Given the description of an element on the screen output the (x, y) to click on. 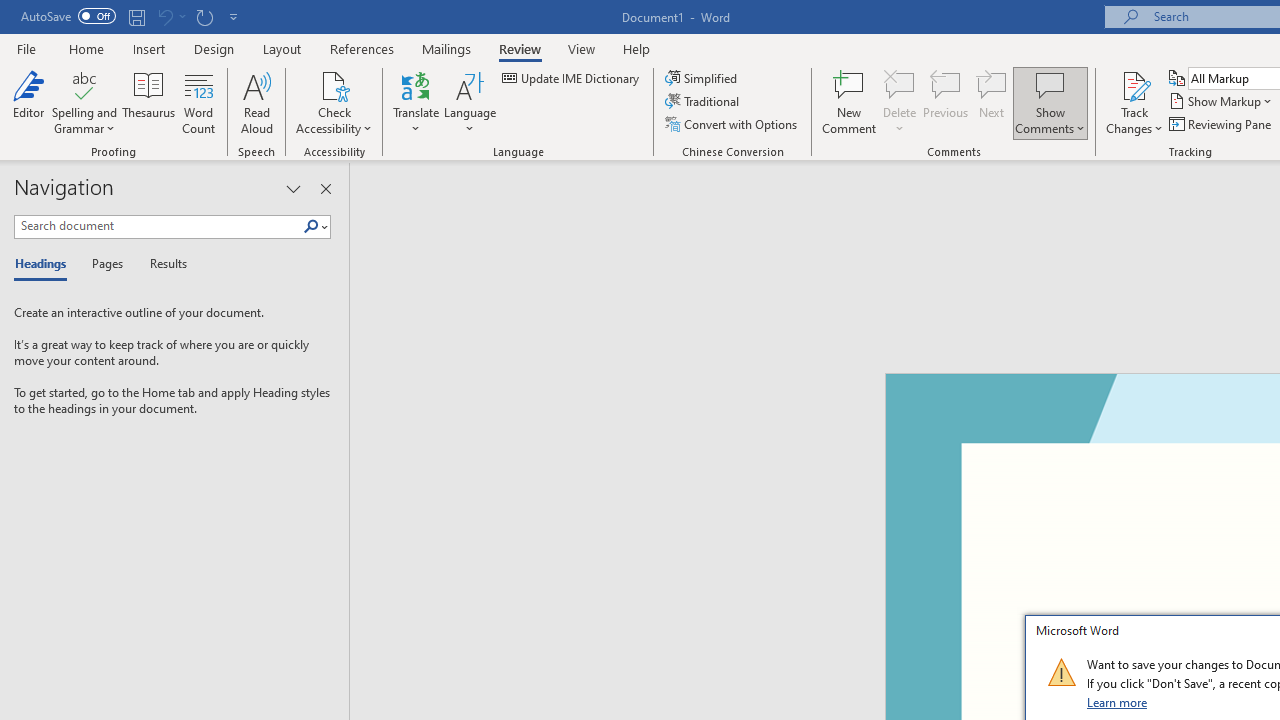
Simplified (702, 78)
Show Comments (1050, 102)
Delete (900, 84)
Word Count (198, 102)
Spelling and Grammar (84, 84)
Language (470, 102)
Track Changes (1134, 102)
Update IME Dictionary... (572, 78)
Translate (415, 102)
Check Accessibility (334, 84)
